Given the description of an element on the screen output the (x, y) to click on. 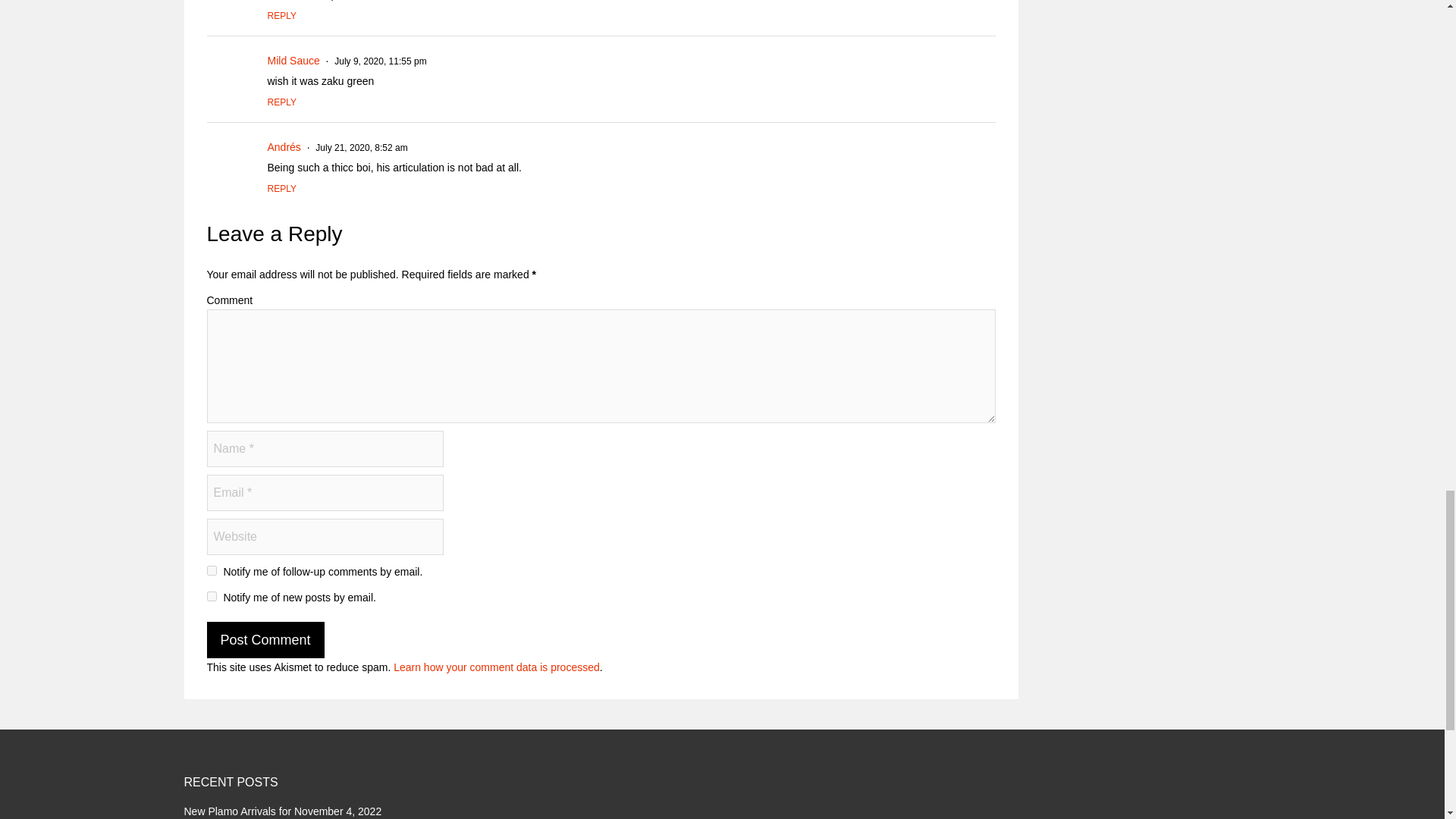
subscribe (210, 596)
Post Comment (264, 639)
subscribe (210, 570)
